Given the description of an element on the screen output the (x, y) to click on. 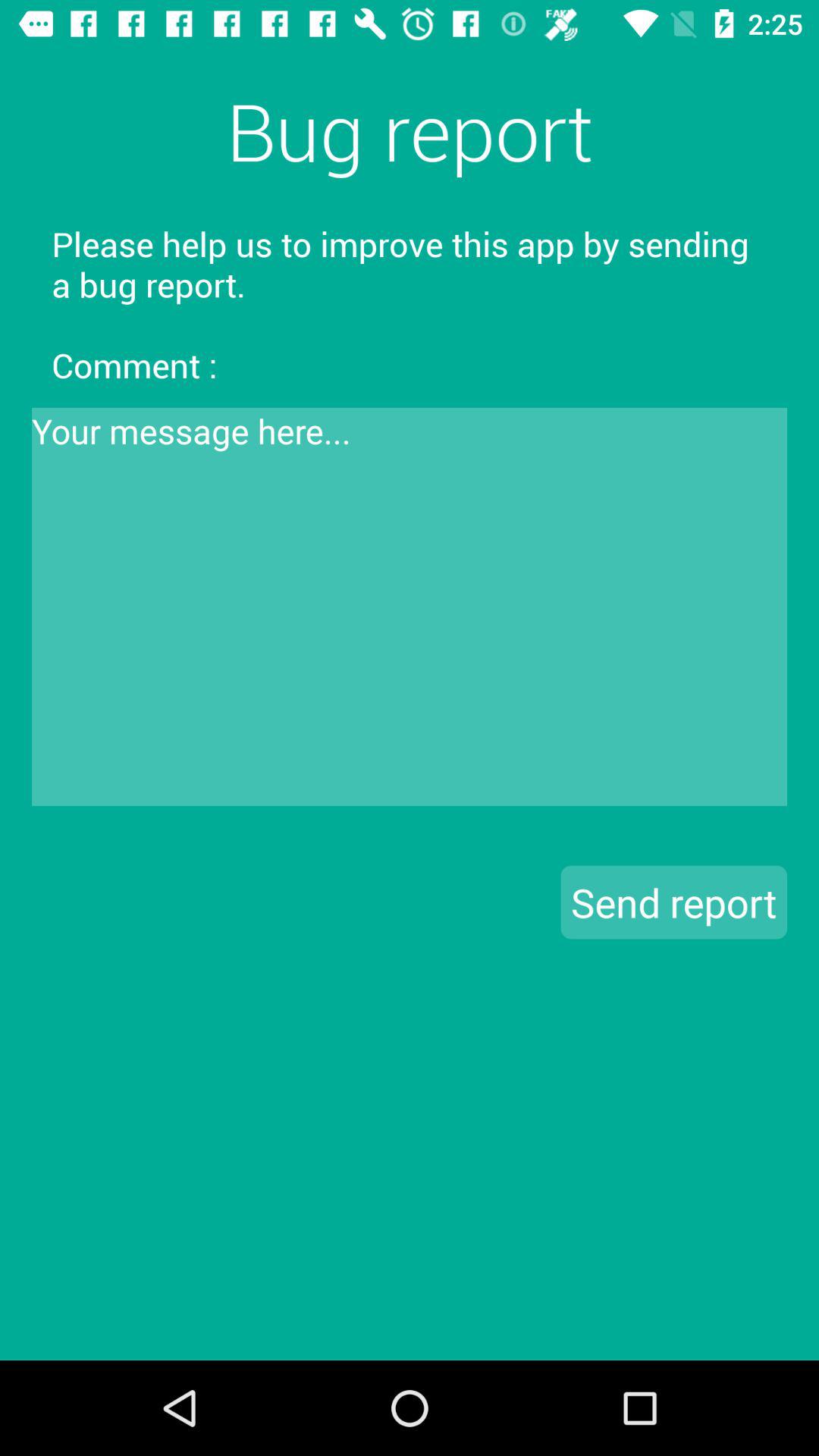
select the icon on the right (673, 902)
